Given the description of an element on the screen output the (x, y) to click on. 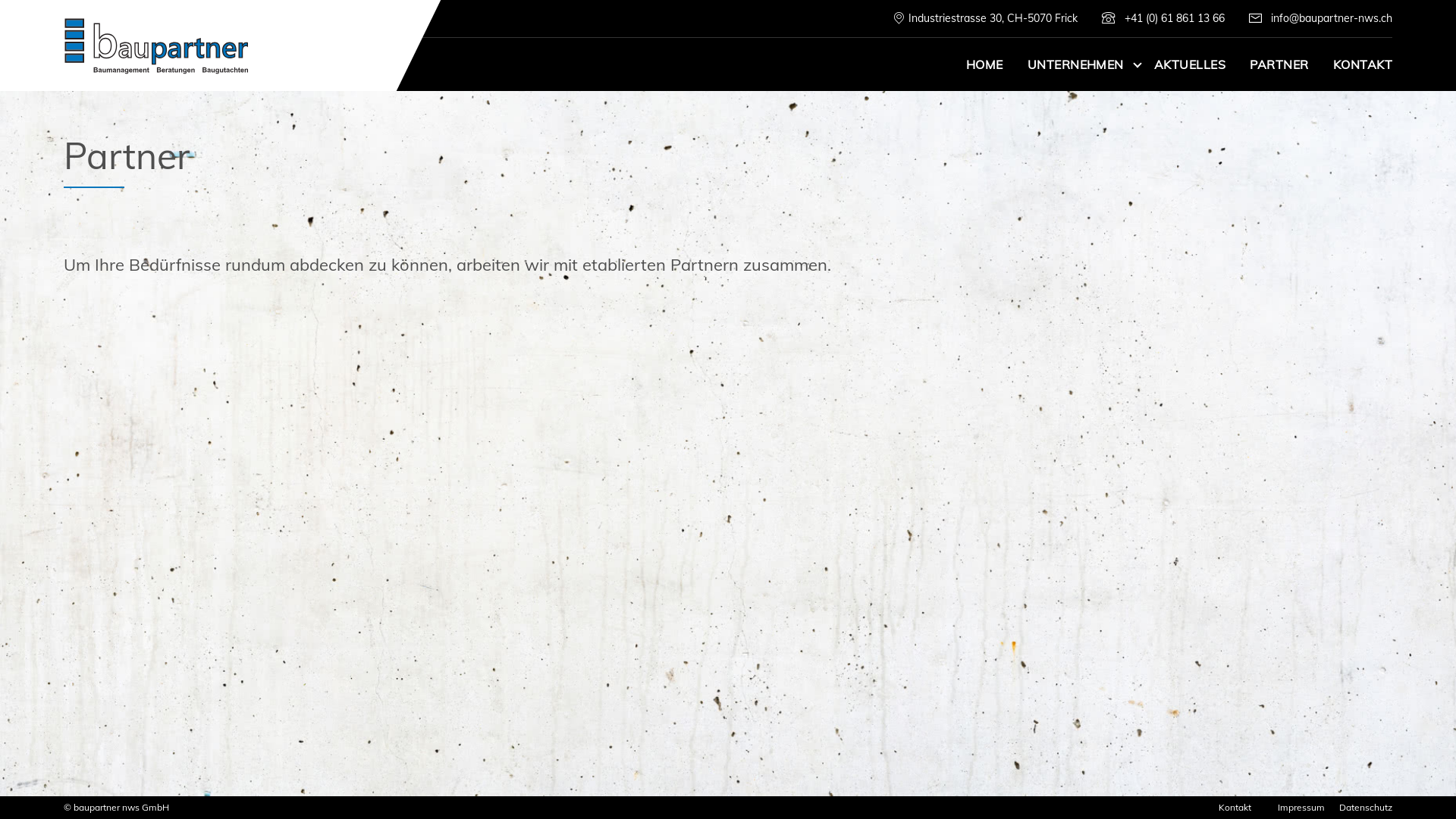
UNTERNEHMEN Element type: text (1078, 64)
Kontakt Element type: text (1234, 806)
HOME Element type: text (984, 64)
KONTAKT Element type: text (1362, 64)
PARTNER Element type: text (1278, 64)
Datenschutz Element type: text (1365, 806)
info@baupartner-nws.ch Element type: text (1314, 18)
AKTUELLES Element type: text (1189, 64)
Impressum Element type: text (1300, 806)
+41 (0) 61 861 13 66 Element type: text (1162, 18)
